Given the description of an element on the screen output the (x, y) to click on. 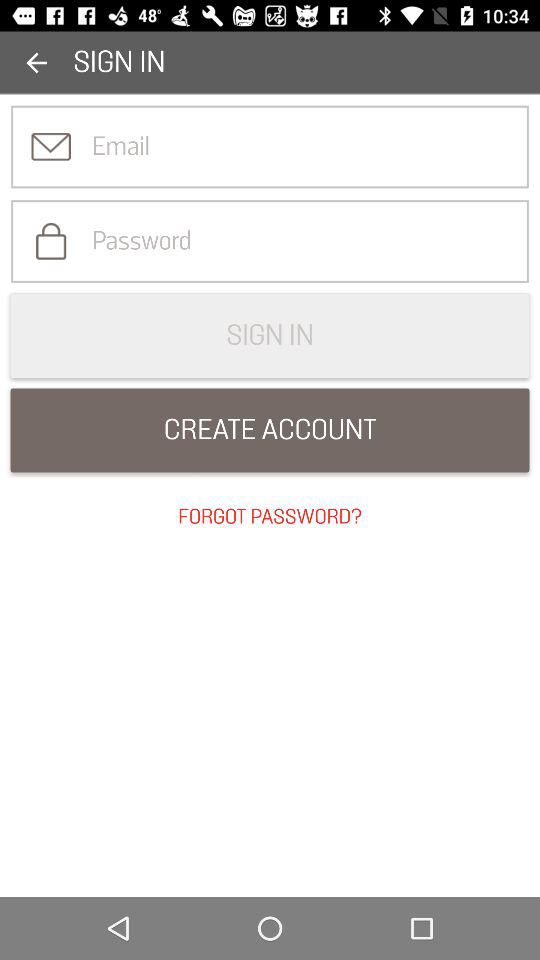
flip until the forgot password? icon (269, 517)
